Given the description of an element on the screen output the (x, y) to click on. 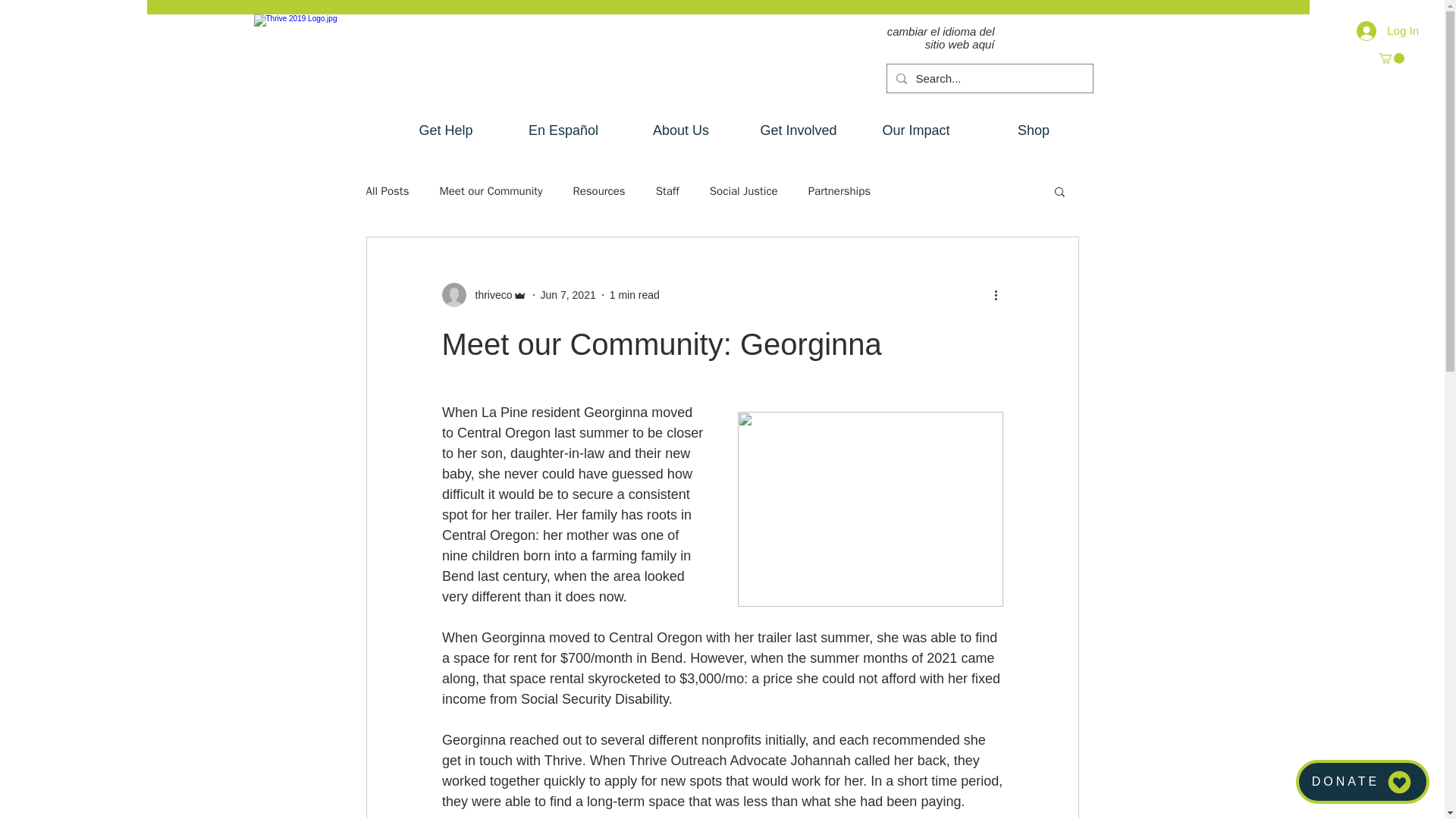
About Us (680, 130)
Meet our Community (490, 190)
Our Impact (915, 130)
Social Justice (743, 190)
Resources (598, 190)
Get Help (445, 130)
All Posts (387, 190)
1 min read (634, 294)
thriveco (488, 294)
Staff (667, 190)
Partnerships (839, 190)
Log In (1387, 30)
Shop (1034, 130)
Get Involved (798, 130)
Jun 7, 2021 (567, 294)
